Given the description of an element on the screen output the (x, y) to click on. 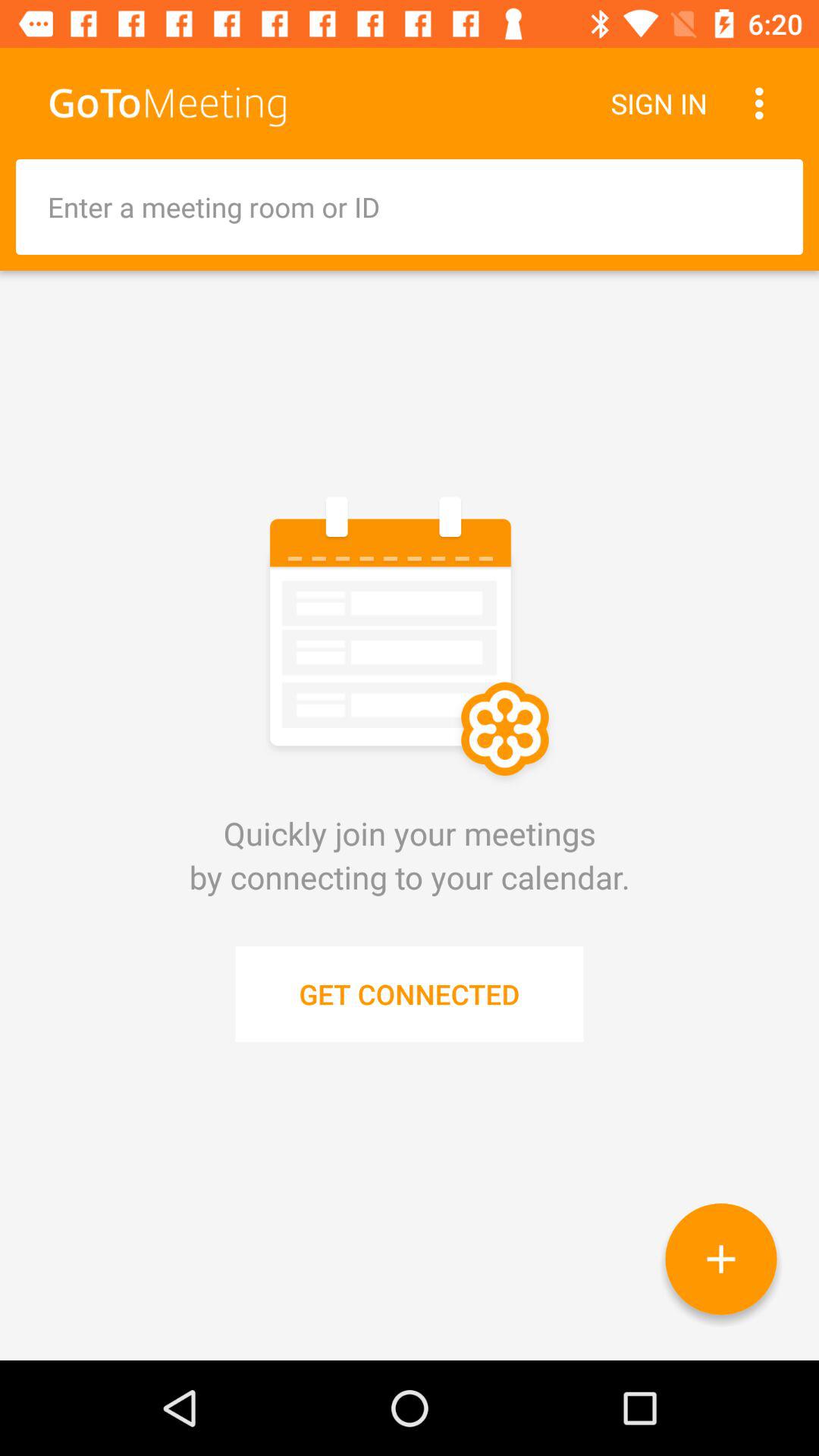
type id (409, 206)
